Given the description of an element on the screen output the (x, y) to click on. 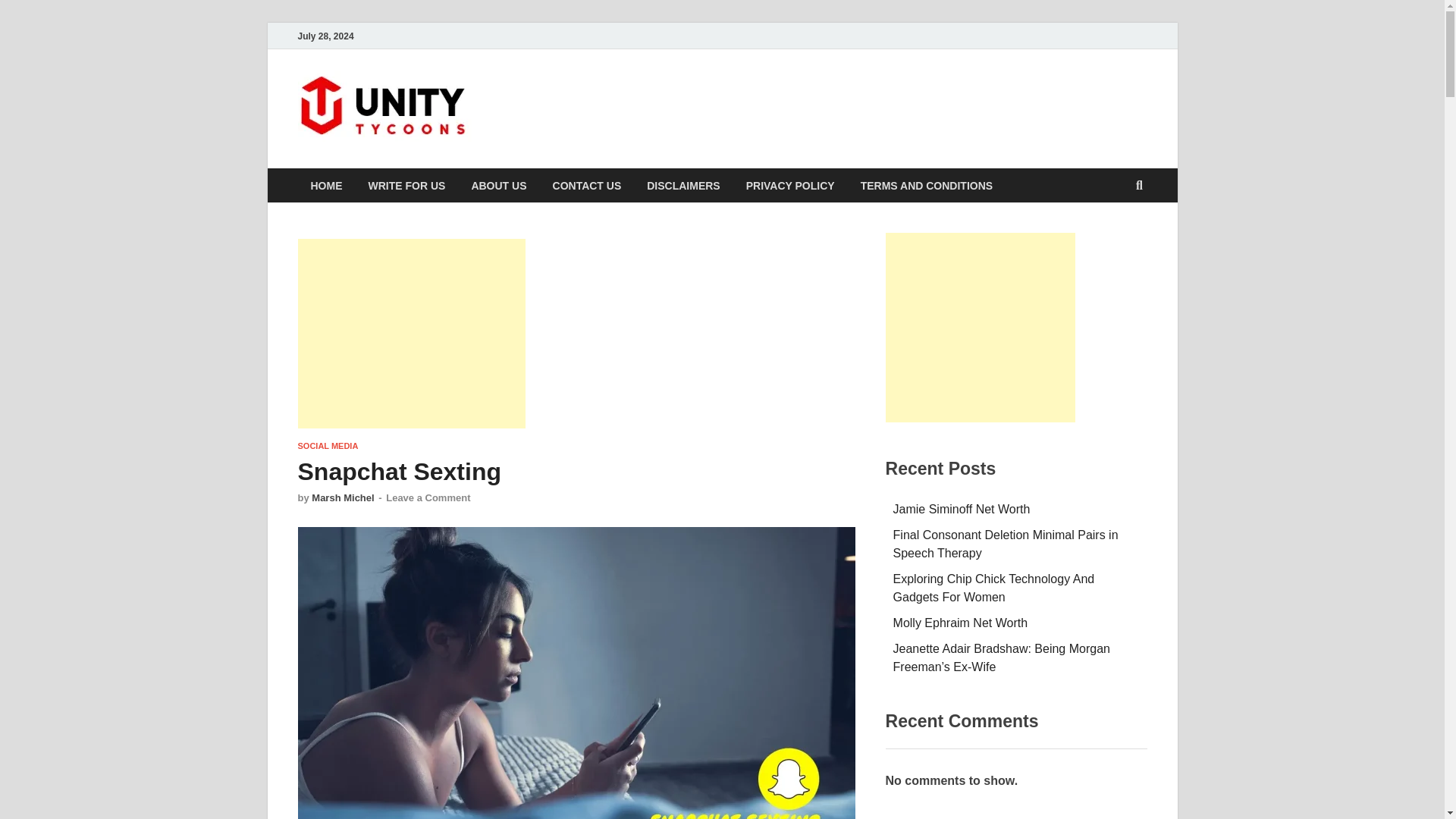
ABOUT US (498, 185)
SOCIAL MEDIA (327, 445)
Leave a Comment (427, 497)
PRIVACY POLICY (790, 185)
DISCLAIMERS (682, 185)
TERMS AND CONDITIONS (926, 185)
Final Consonant Deletion Minimal Pairs in Speech Therapy (1005, 543)
Exploring Chip Chick Technology And Gadgets For Women (993, 587)
CONTACT US (587, 185)
Jamie Siminoff Net Worth (961, 508)
Marsh Michel (342, 497)
HOME (326, 185)
Molly Ephraim Net Worth (960, 622)
WRITE FOR US (406, 185)
